Given the description of an element on the screen output the (x, y) to click on. 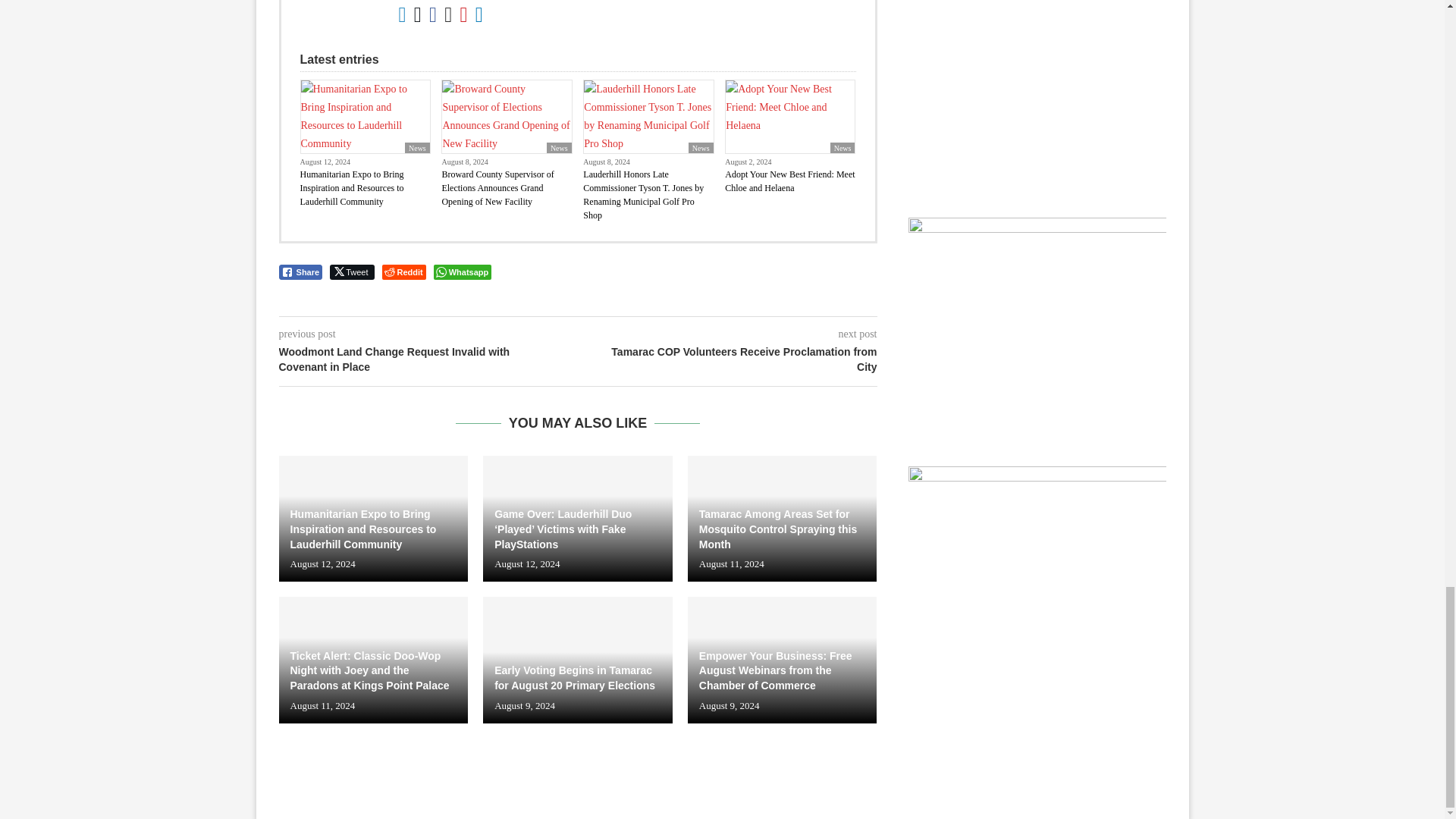
Adopt Your New Best Friend: Meet Chloe and Helaena 5 (789, 116)
